Given the description of an element on the screen output the (x, y) to click on. 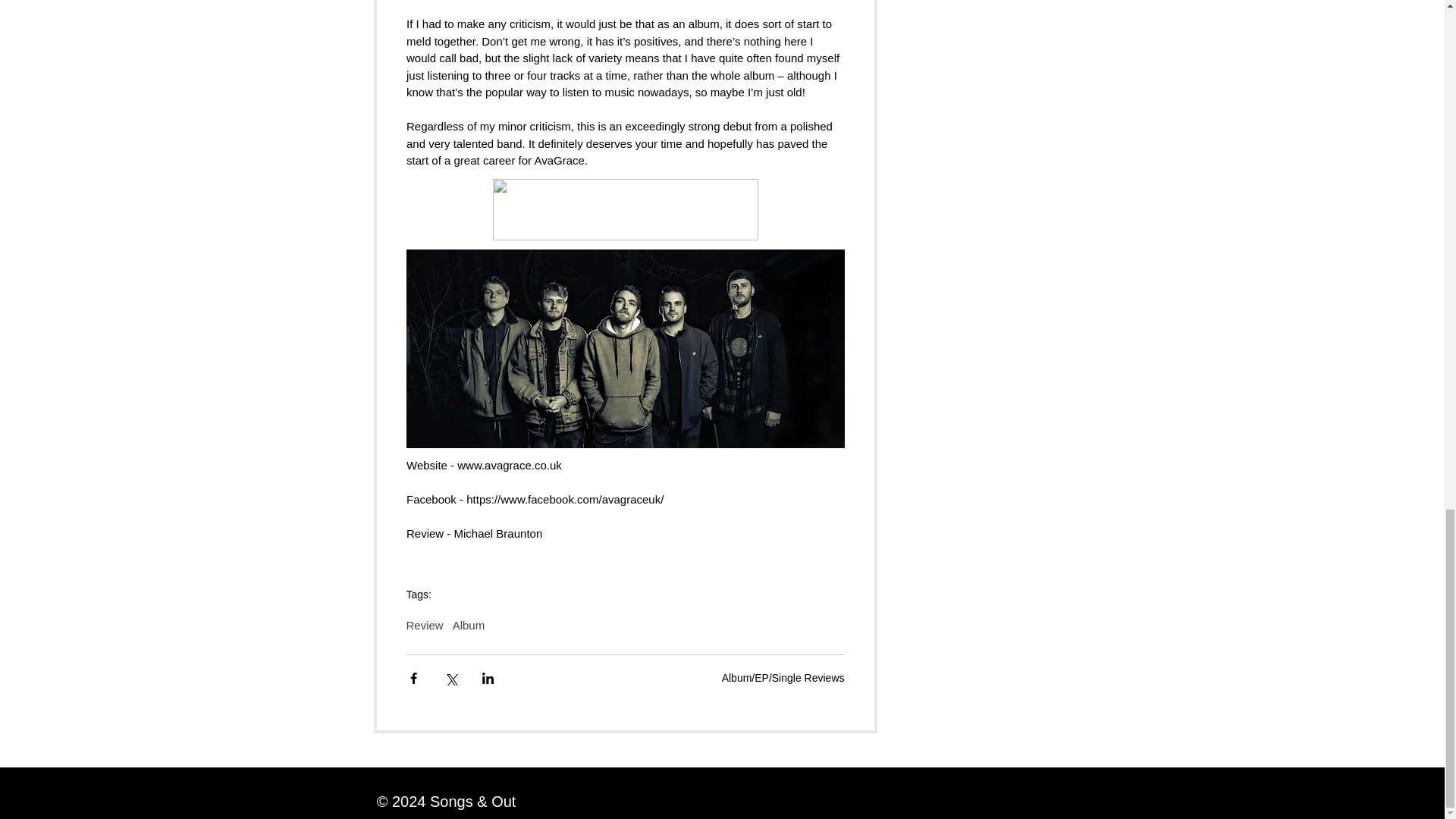
www.avagrace.co.uk (509, 464)
Album (468, 625)
Review (425, 625)
